Given the description of an element on the screen output the (x, y) to click on. 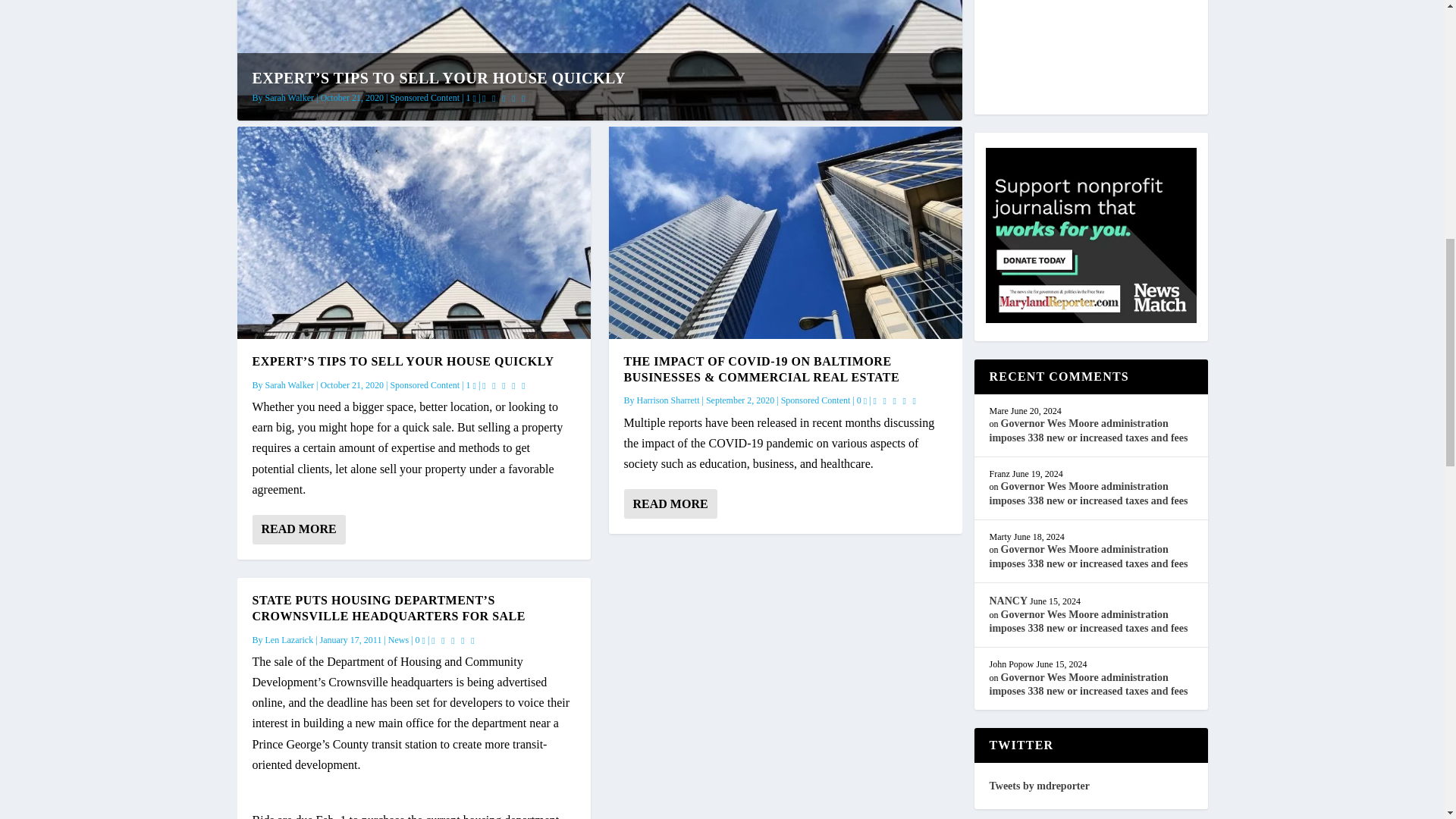
Posts by Sarah Walker (289, 97)
Rating: 0.00 (505, 385)
Sponsored Content (425, 385)
Sarah Walker (289, 97)
Sponsored Content (425, 97)
comment count (474, 98)
News (398, 639)
Posts by Len Lazarick (289, 639)
Posts by Harrison Sharrett (668, 399)
READ MORE (298, 529)
Len Lazarick (289, 639)
Posts by Sarah Walker (289, 385)
Sarah Walker (289, 385)
comment count (423, 640)
1 (470, 385)
